Given the description of an element on the screen output the (x, y) to click on. 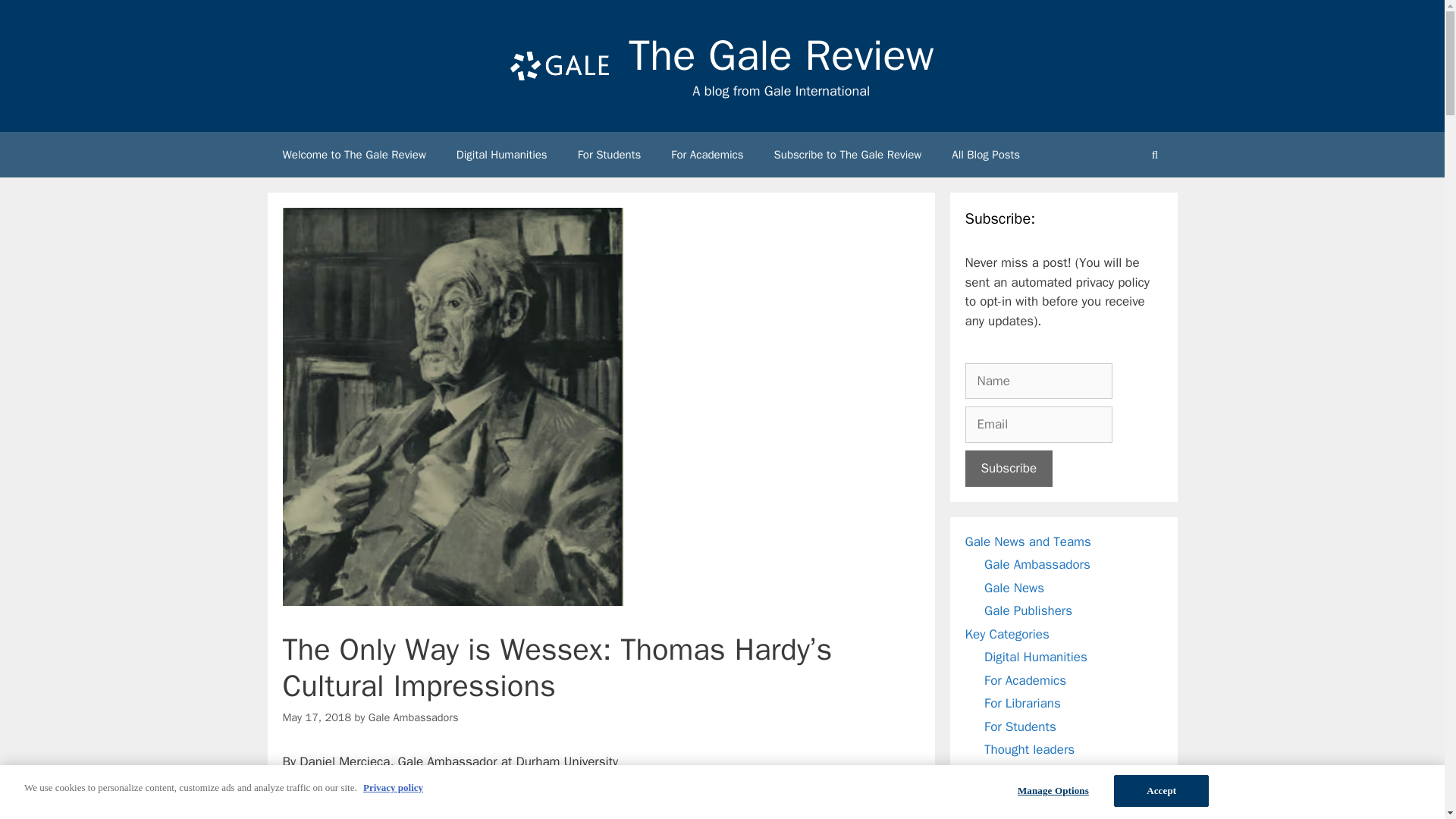
Subscribe (1007, 468)
All Blog Posts (985, 154)
For Academics (707, 154)
Gale Ambassadors (413, 716)
For Students (609, 154)
View all posts by Gale Ambassadors (413, 716)
Digital Humanities (501, 154)
Subscribe to The Gale Review (847, 154)
Welcome to The Gale Review (353, 154)
The Gale Review (781, 55)
